Given the description of an element on the screen output the (x, y) to click on. 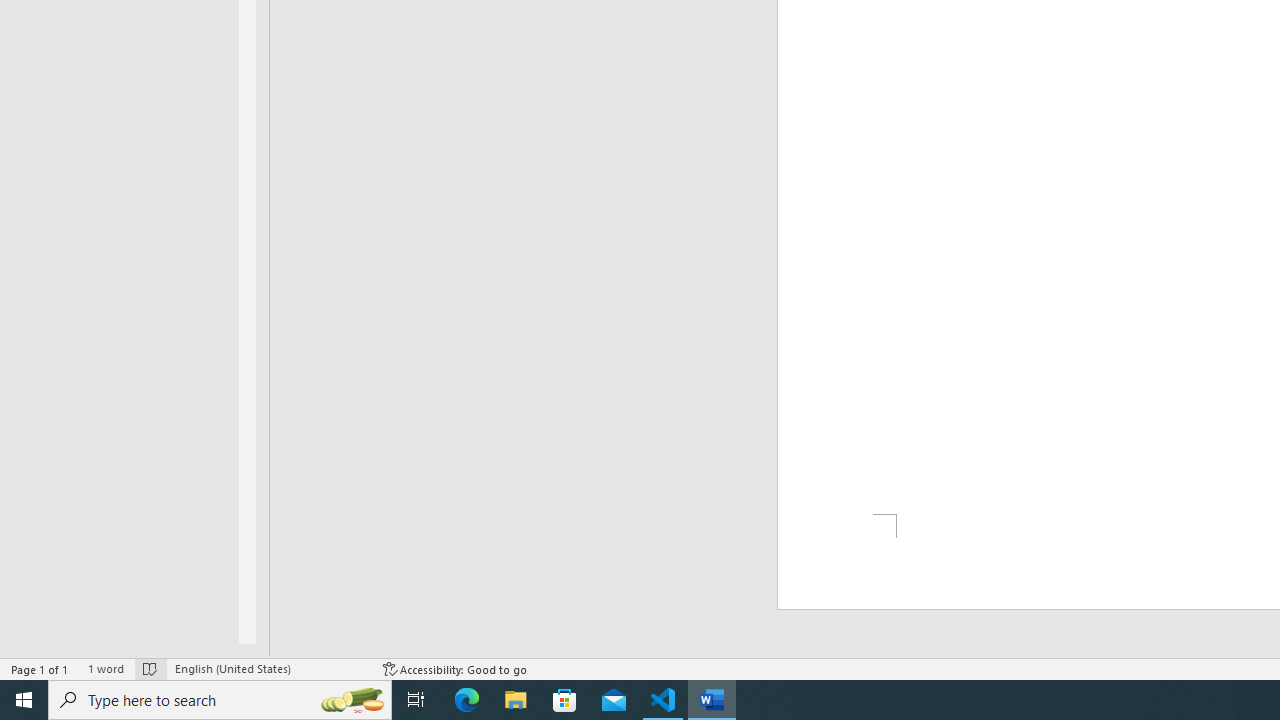
Spelling and Grammar Check No Errors (150, 668)
Accessibility Checker Accessibility: Good to go (455, 668)
Page Number Page 1 of 1 (39, 668)
Language English (United States) (269, 668)
